Given the description of an element on the screen output the (x, y) to click on. 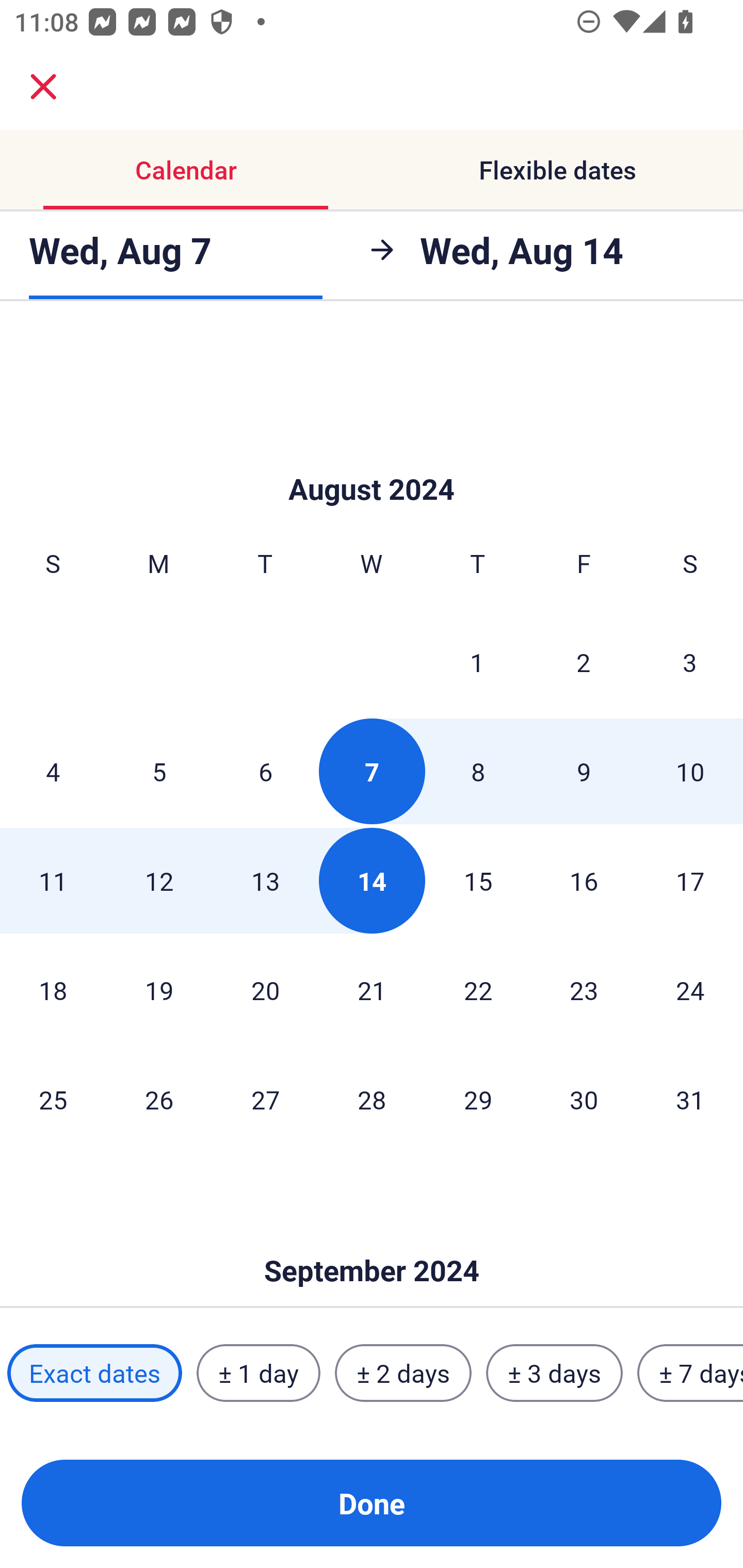
close. (43, 86)
Flexible dates (557, 170)
Skip to Done (371, 458)
1 Thursday, August 1, 2024 (477, 661)
2 Friday, August 2, 2024 (583, 661)
3 Saturday, August 3, 2024 (689, 661)
4 Sunday, August 4, 2024 (53, 771)
5 Monday, August 5, 2024 (159, 771)
6 Tuesday, August 6, 2024 (265, 771)
15 Thursday, August 15, 2024 (477, 879)
16 Friday, August 16, 2024 (584, 879)
17 Saturday, August 17, 2024 (690, 879)
18 Sunday, August 18, 2024 (53, 989)
19 Monday, August 19, 2024 (159, 989)
20 Tuesday, August 20, 2024 (265, 989)
21 Wednesday, August 21, 2024 (371, 989)
22 Thursday, August 22, 2024 (477, 989)
23 Friday, August 23, 2024 (584, 989)
24 Saturday, August 24, 2024 (690, 989)
25 Sunday, August 25, 2024 (53, 1098)
26 Monday, August 26, 2024 (159, 1098)
27 Tuesday, August 27, 2024 (265, 1098)
28 Wednesday, August 28, 2024 (371, 1098)
29 Thursday, August 29, 2024 (477, 1098)
30 Friday, August 30, 2024 (584, 1098)
31 Saturday, August 31, 2024 (690, 1098)
Skip to Done (371, 1239)
Exact dates (94, 1372)
± 1 day (258, 1372)
± 2 days (403, 1372)
± 3 days (553, 1372)
± 7 days (690, 1372)
Done (371, 1502)
